Given the description of an element on the screen output the (x, y) to click on. 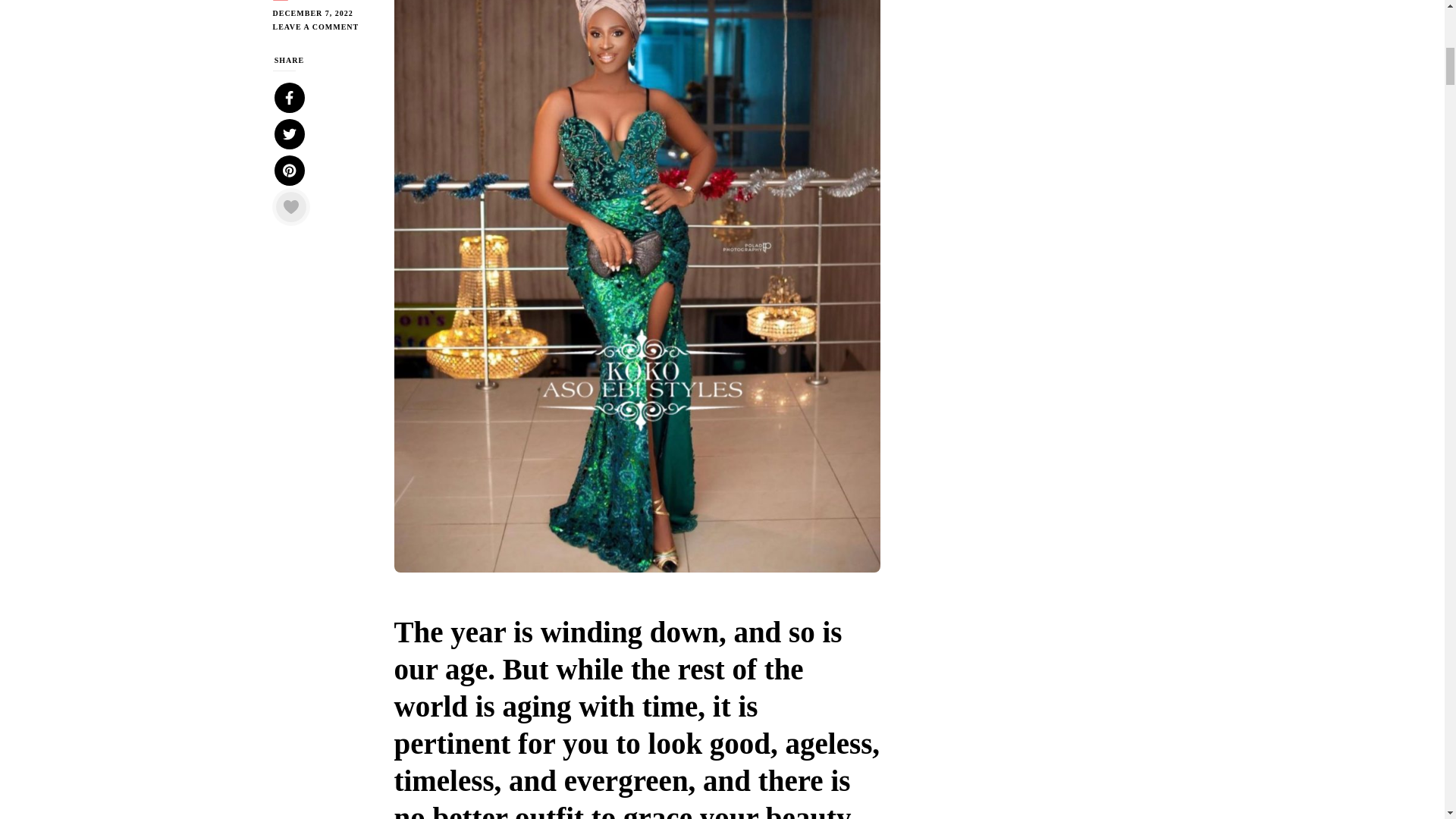
SHARE (289, 140)
DECEMBER 7, 2022 (322, 13)
